Given the description of an element on the screen output the (x, y) to click on. 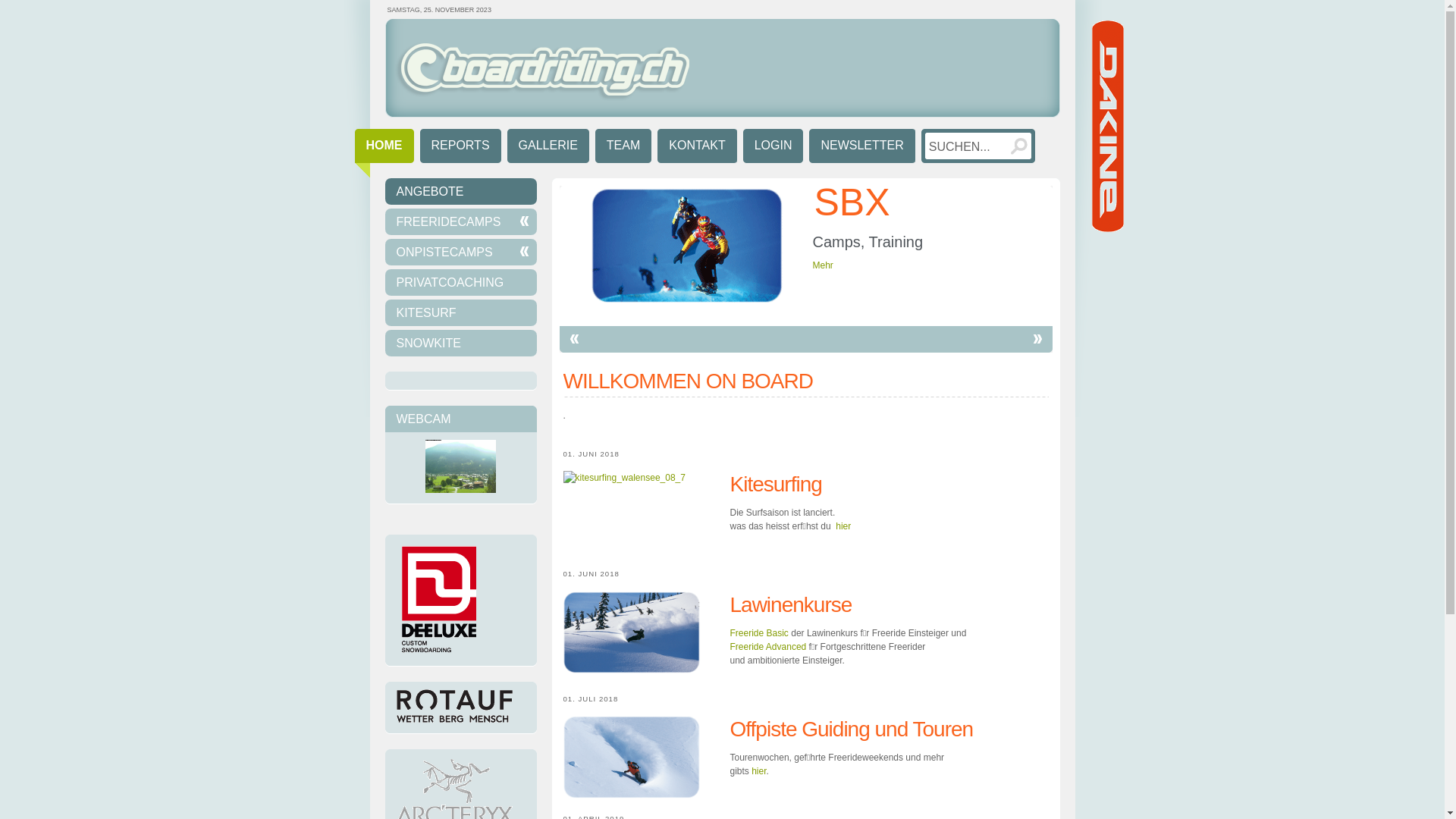
REPORTS Element type: text (460, 148)
WILLKOMMEN ON BOARD Element type: text (687, 380)
hier Element type: text (758, 770)
Search Element type: text (1018, 146)
Previous slide Element type: hover (574, 339)
Snowboardtouren Element type: hover (645, 756)
ONPISTECAMPS Element type: text (460, 251)
Mehr Element type: text (822, 265)
HOME Element type: text (384, 153)
hier Element type: text (842, 525)
Reset Element type: text (8, 8)
PRIVATCOACHING Element type: text (460, 282)
Freeride Basic Element type: text (758, 632)
Freeride Advanced Element type: text (767, 646)
SBX Element type: text (852, 202)
KITESURF Element type: text (460, 312)
SNOWKITE Element type: text (460, 342)
KONTAKT Element type: text (696, 148)
GALLERIE Element type: text (548, 148)
Snowboardcross Element type: hover (686, 245)
Next slide Element type: hover (1037, 339)
TEAM Element type: text (623, 148)
FREERIDECAMPS Element type: text (460, 221)
